Given the description of an element on the screen output the (x, y) to click on. 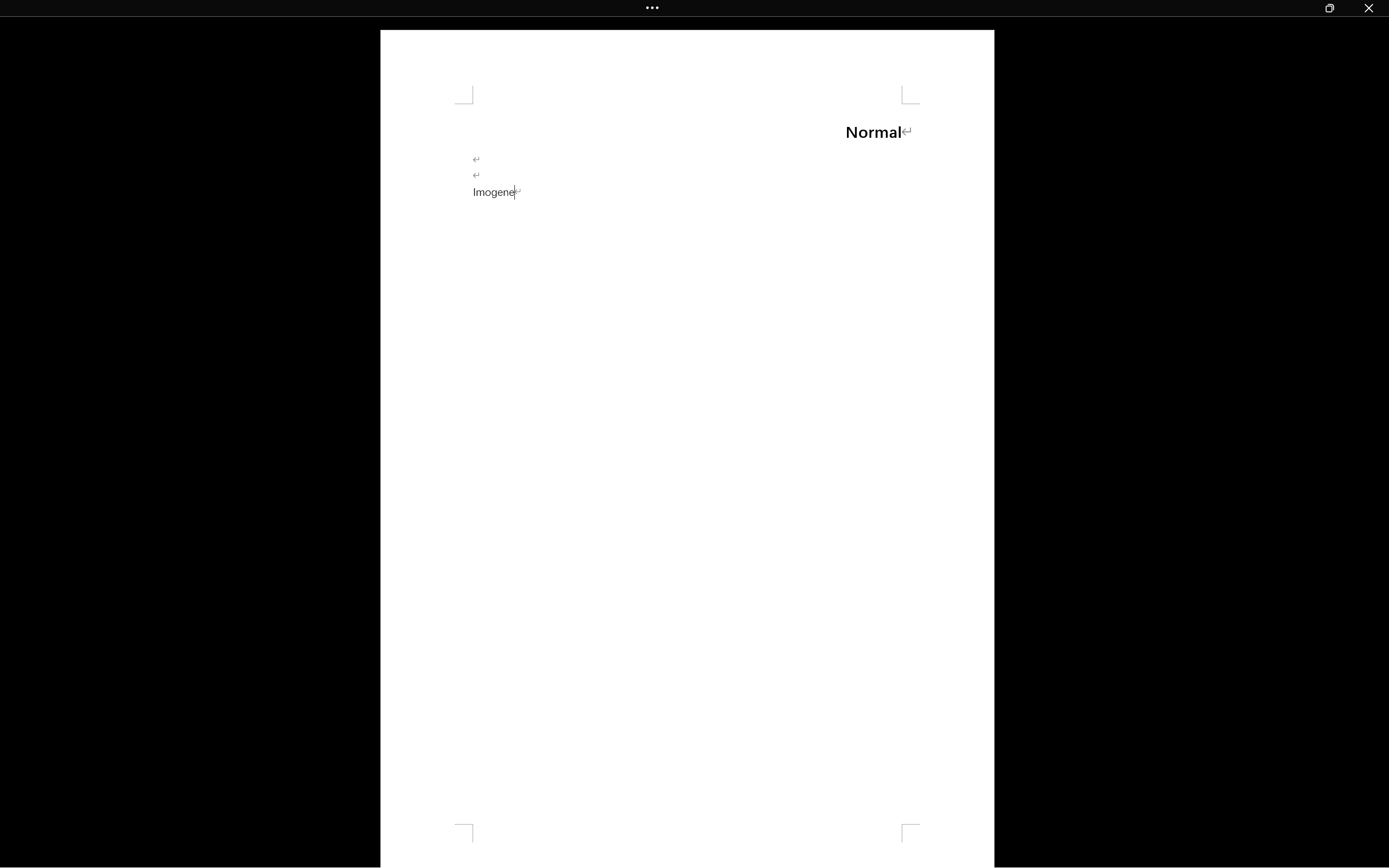
Preview (16, 62)
Cameo (49, 51)
Learn More (351, 62)
Zoom 250% (1364, 837)
Microsoft search (708, 10)
Export to Video (317, 62)
